Given the description of an element on the screen output the (x, y) to click on. 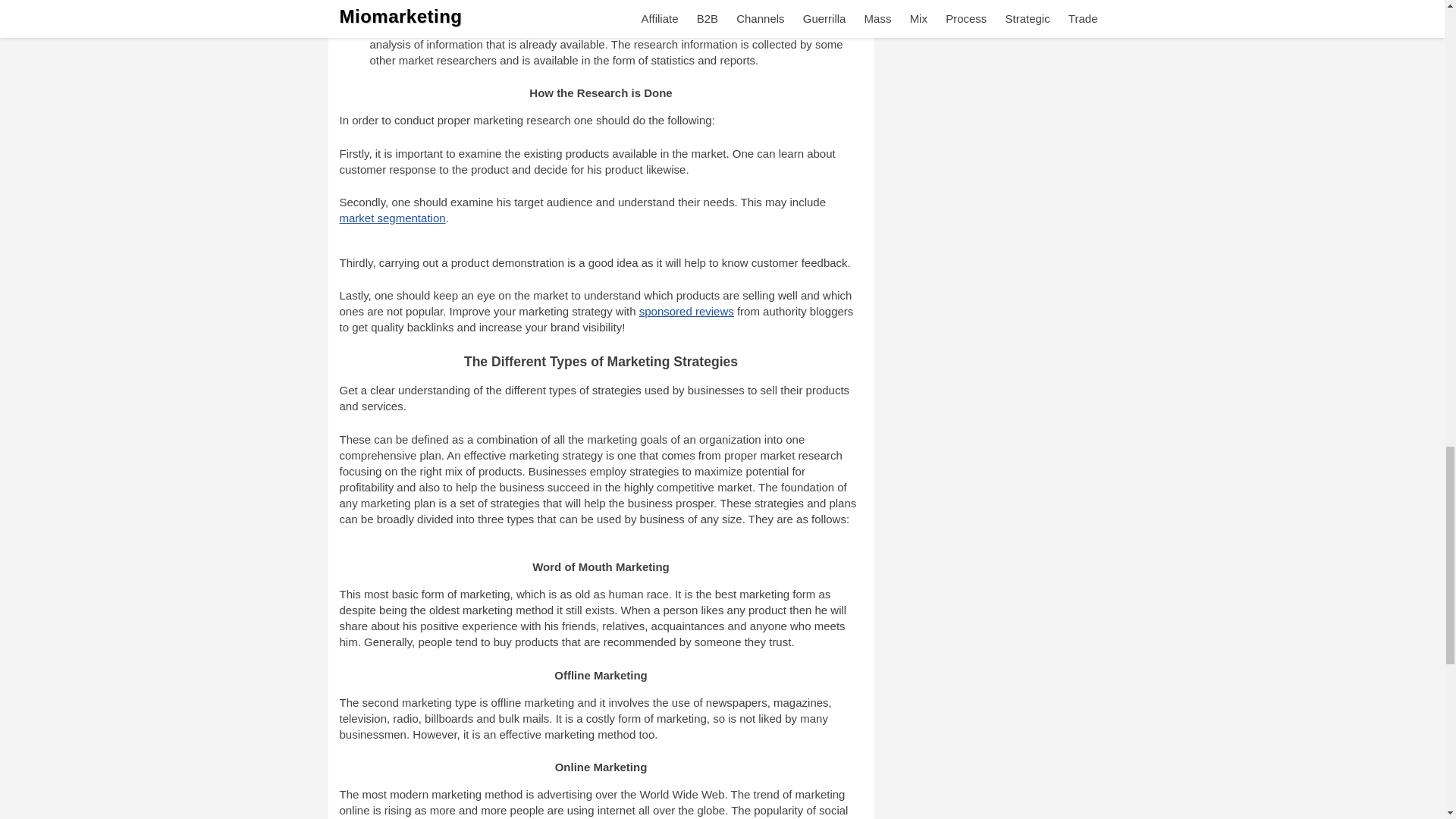
market segmentation (392, 217)
sponsored reviews (686, 310)
